Given the description of an element on the screen output the (x, y) to click on. 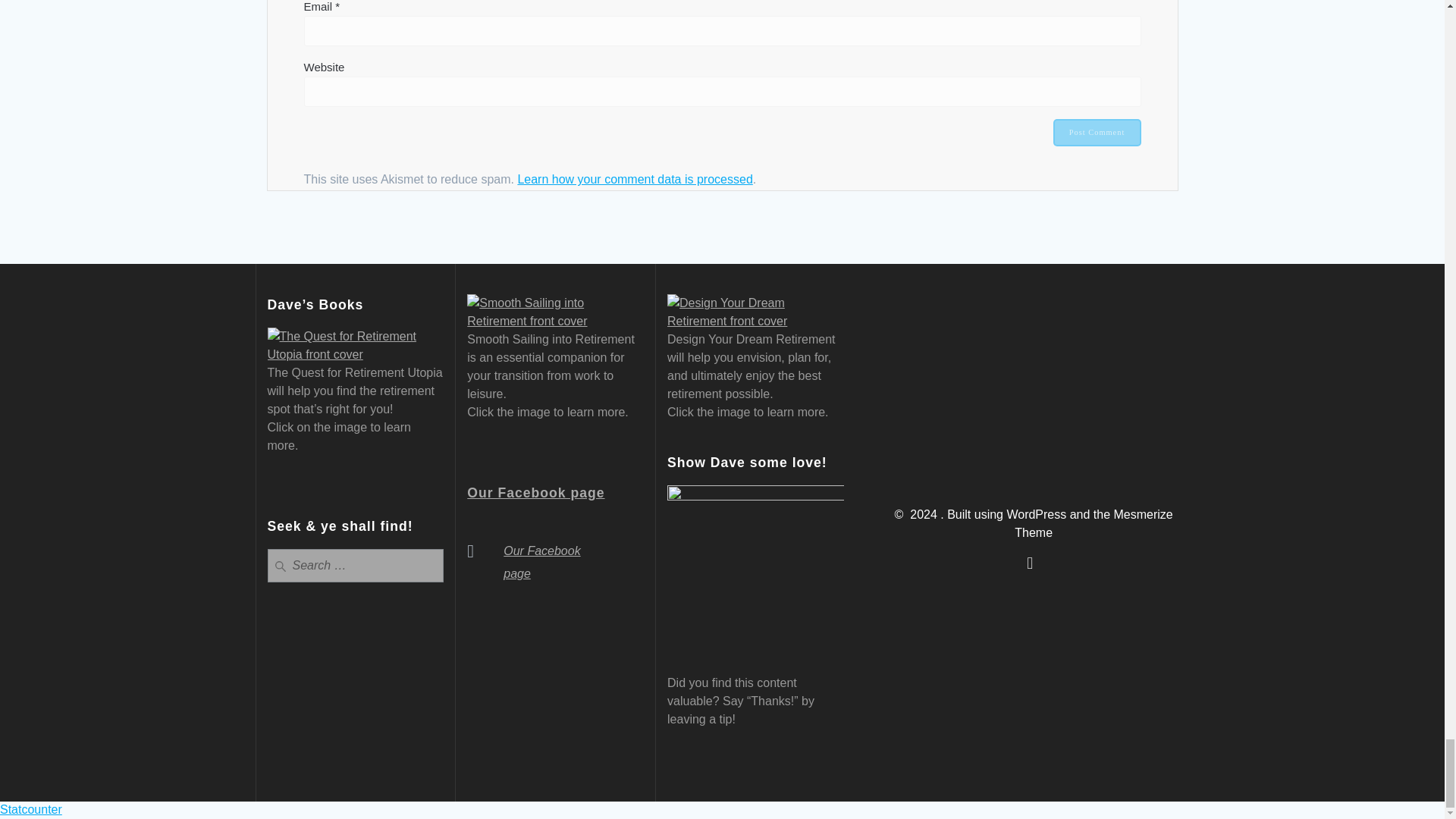
Show Dave some love! (755, 573)
Post Comment (1096, 132)
Dave's Books (355, 345)
